Given the description of an element on the screen output the (x, y) to click on. 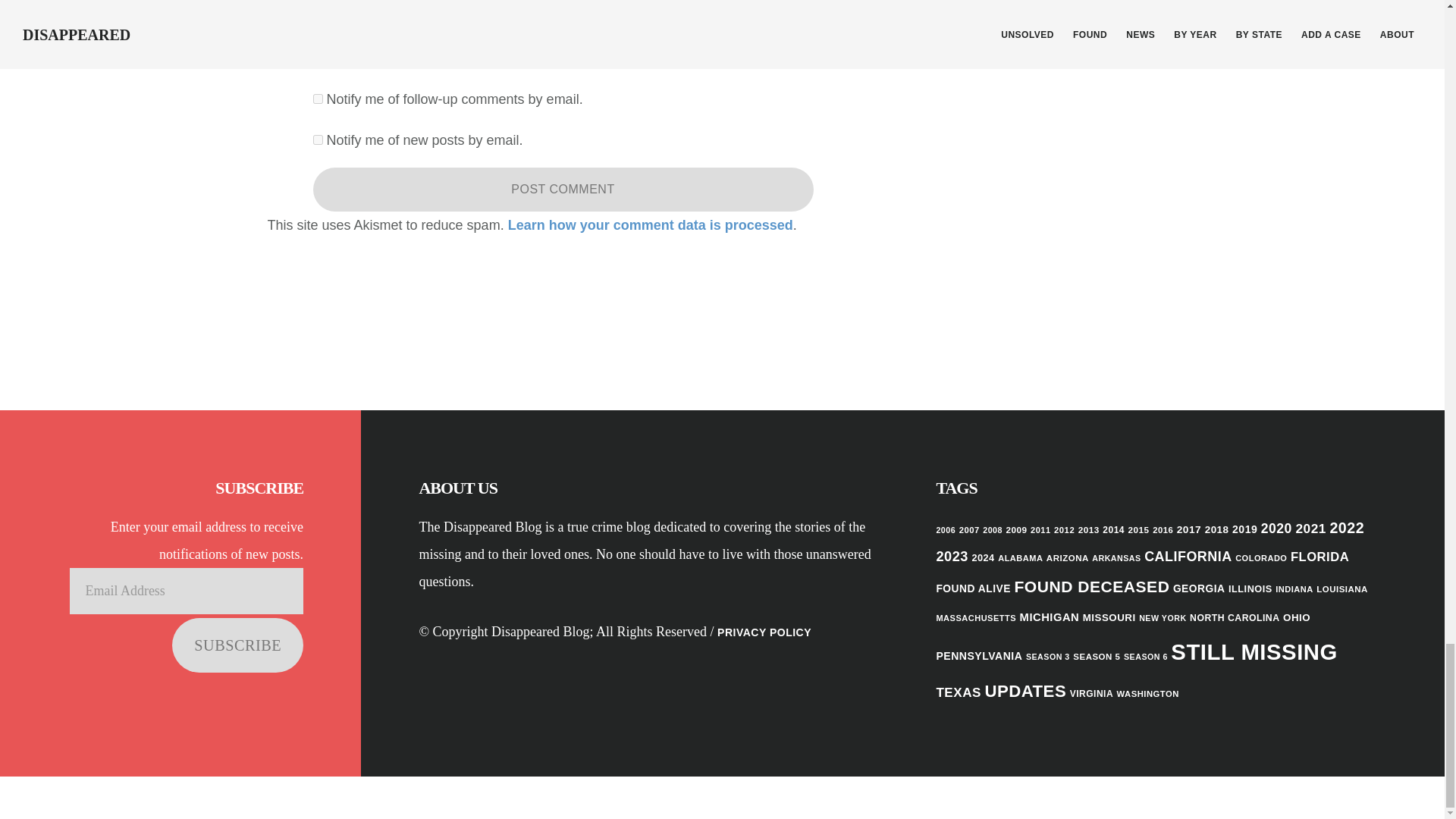
Post Comment (562, 189)
Learn how your comment data is processed (650, 224)
Post Comment (562, 189)
subscribe (317, 139)
subscribe (317, 99)
